Given the description of an element on the screen output the (x, y) to click on. 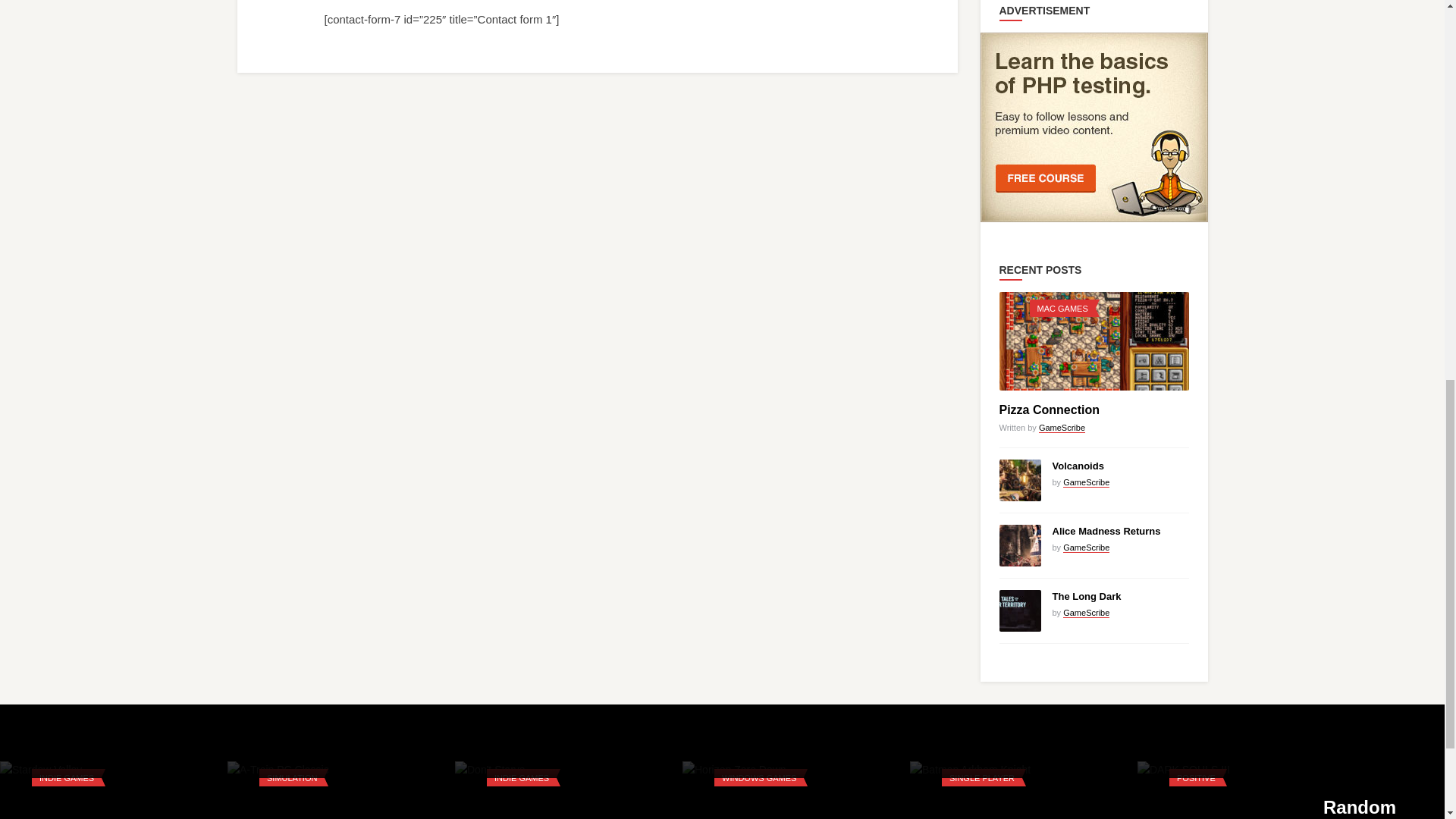
View all posts in Indie Games (66, 777)
Posts by GameScribe (1061, 428)
Posts by GameScribe (1085, 547)
Posts by GameScribe (1085, 613)
Posts by GameScribe (1085, 482)
View all posts in Mac Games (1061, 307)
